Given the description of an element on the screen output the (x, y) to click on. 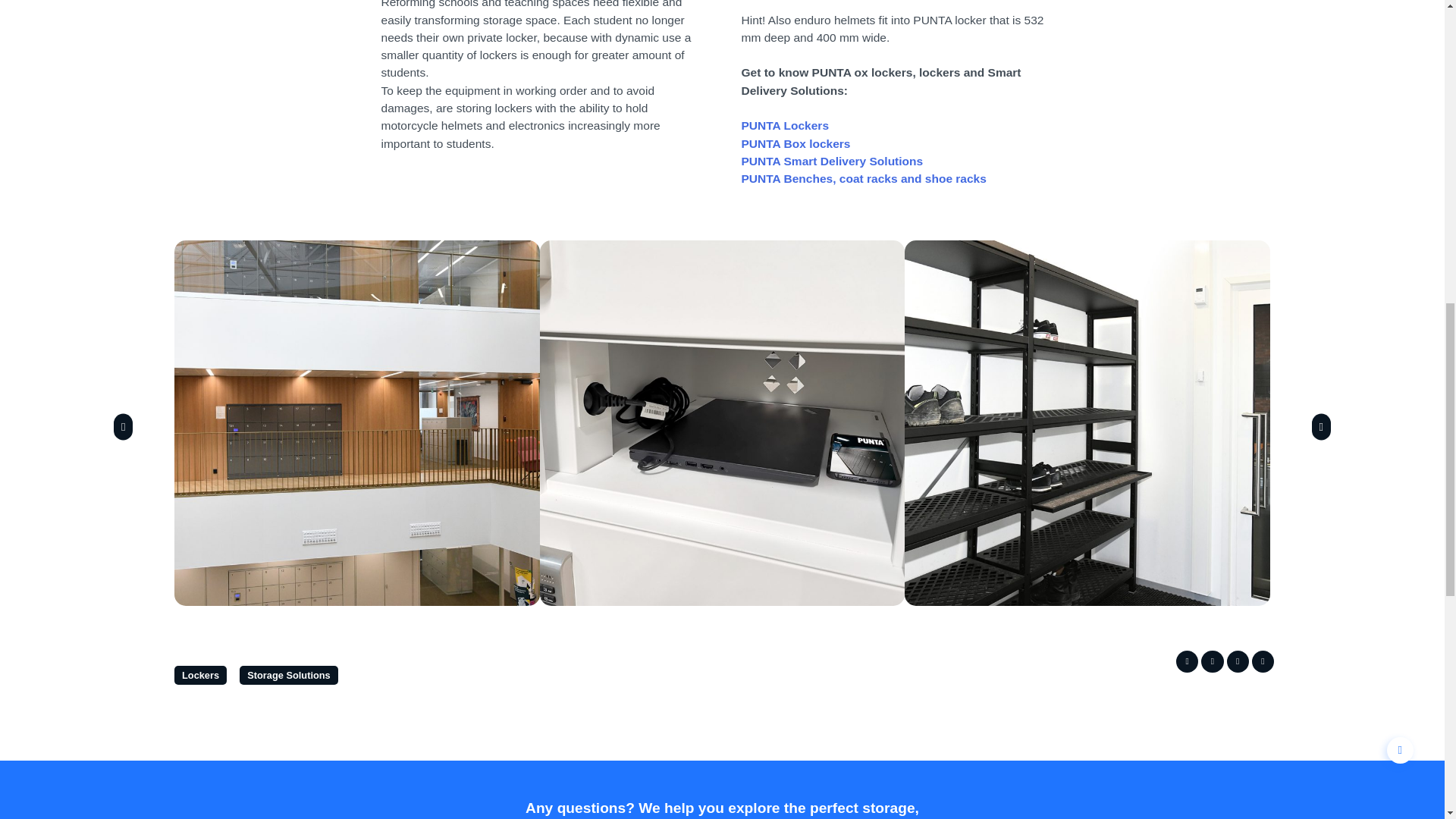
PUNTA Box lockers (795, 143)
PUNTA Benches, coat racks and shoe racks (864, 178)
Lockers (200, 674)
PUNTA Lockers (785, 124)
Storage Solutions (288, 674)
PUNTA Smart Delivery Solutions (832, 160)
